Given the description of an element on the screen output the (x, y) to click on. 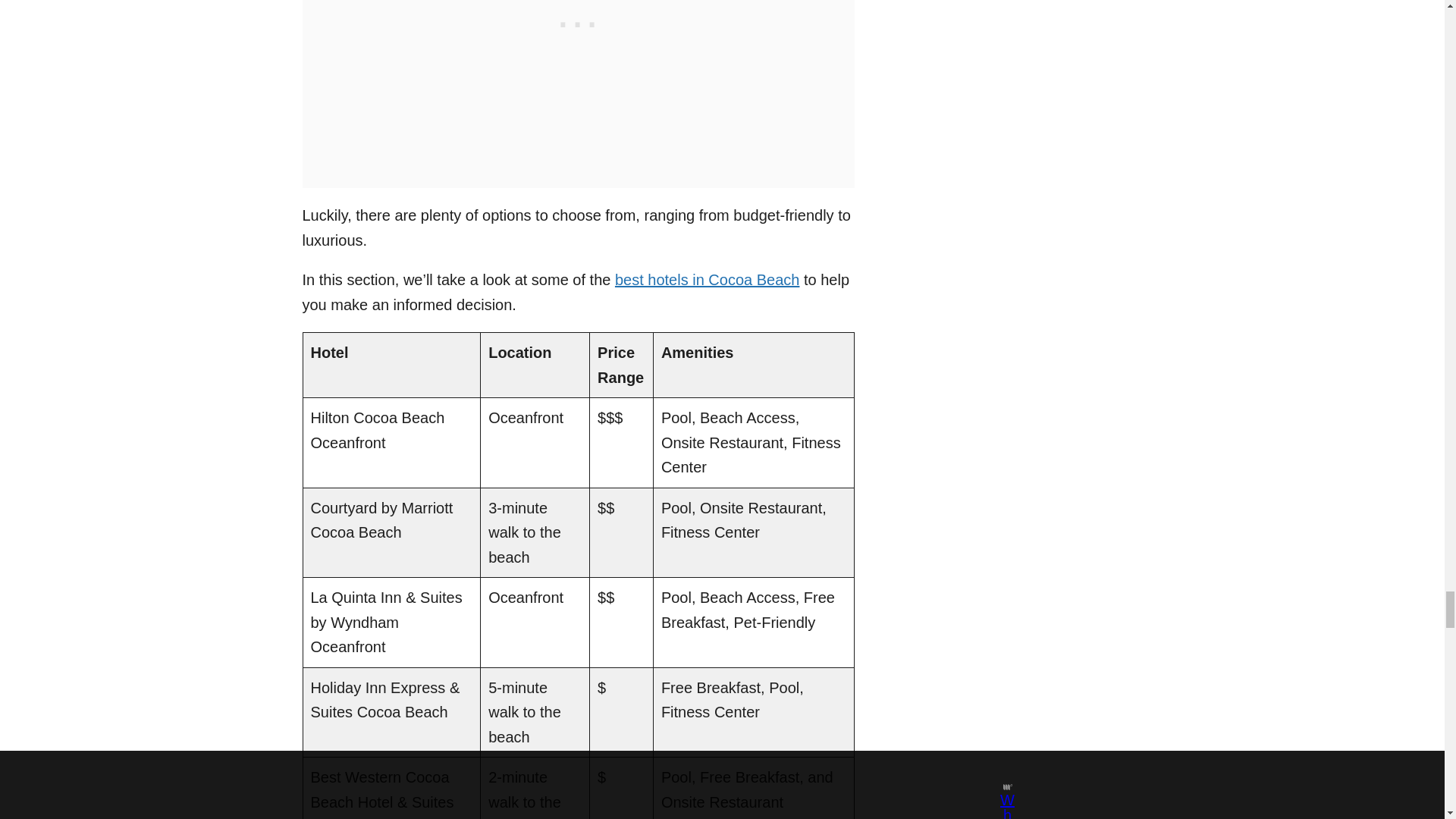
best hotels in Cocoa Beach (706, 279)
